Given the description of an element on the screen output the (x, y) to click on. 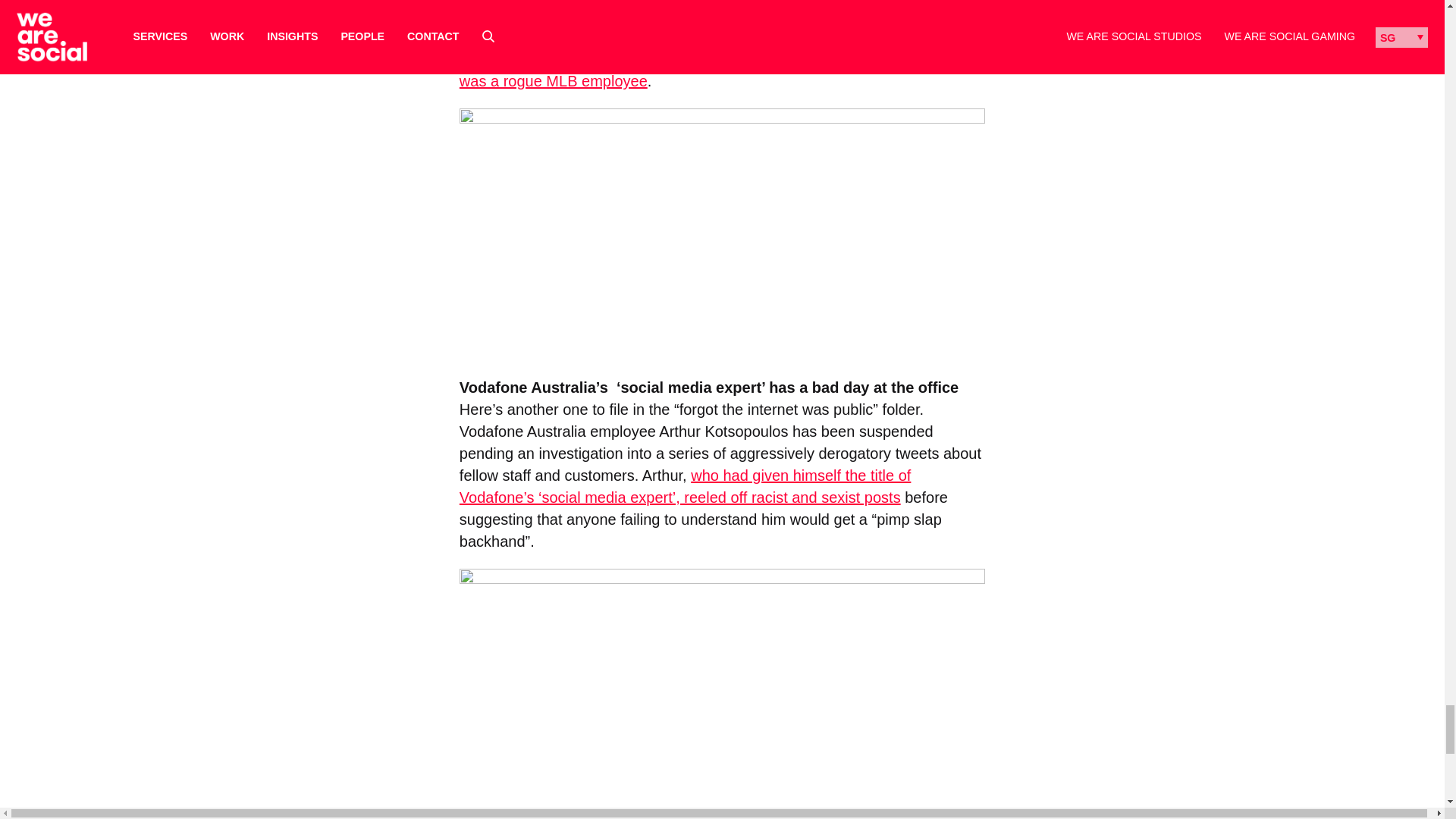
culprit was a rogue MLB employee (719, 69)
